Given the description of an element on the screen output the (x, y) to click on. 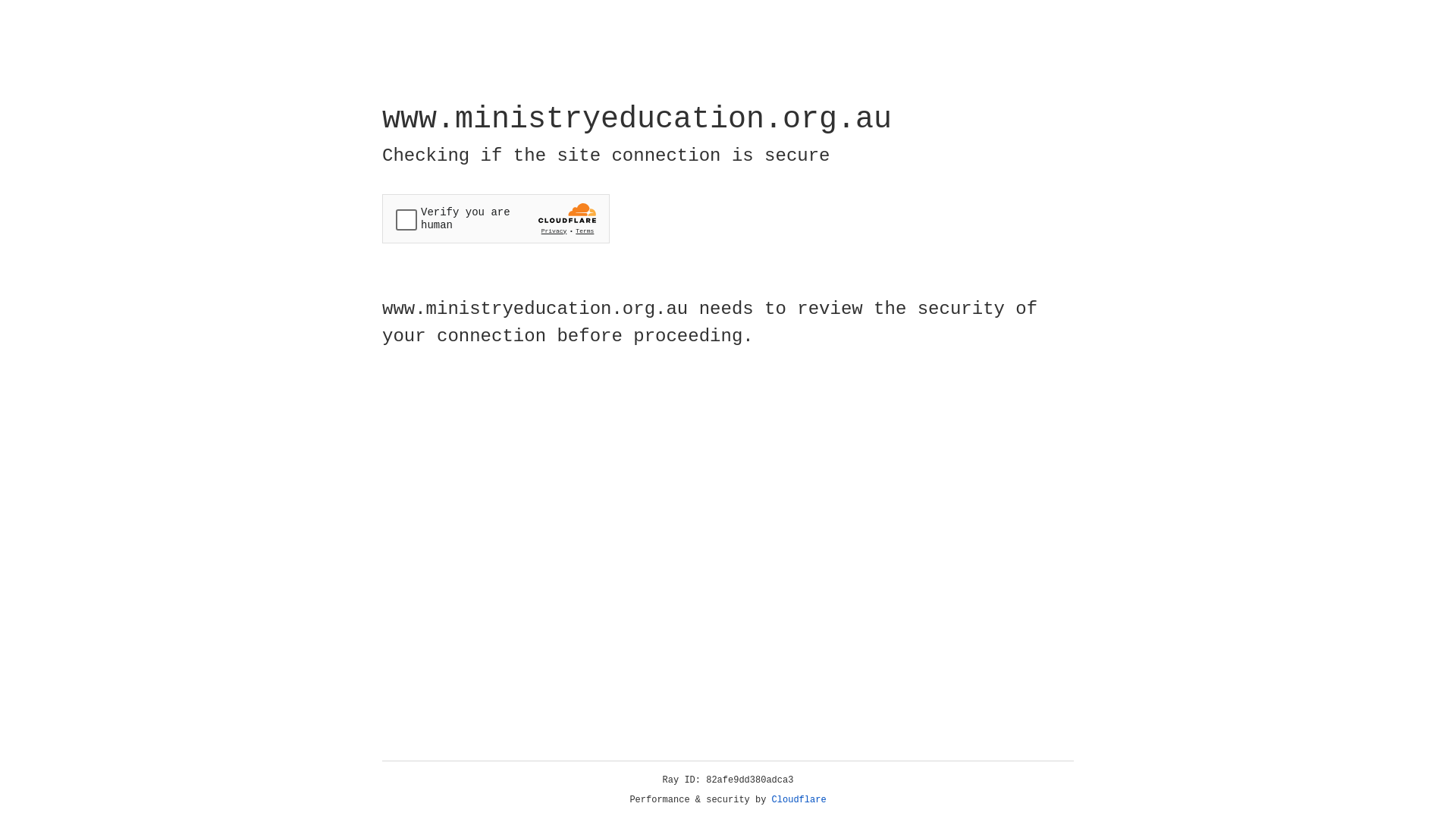
Cloudflare Element type: text (798, 799)
Widget containing a Cloudflare security challenge Element type: hover (495, 218)
